Given the description of an element on the screen output the (x, y) to click on. 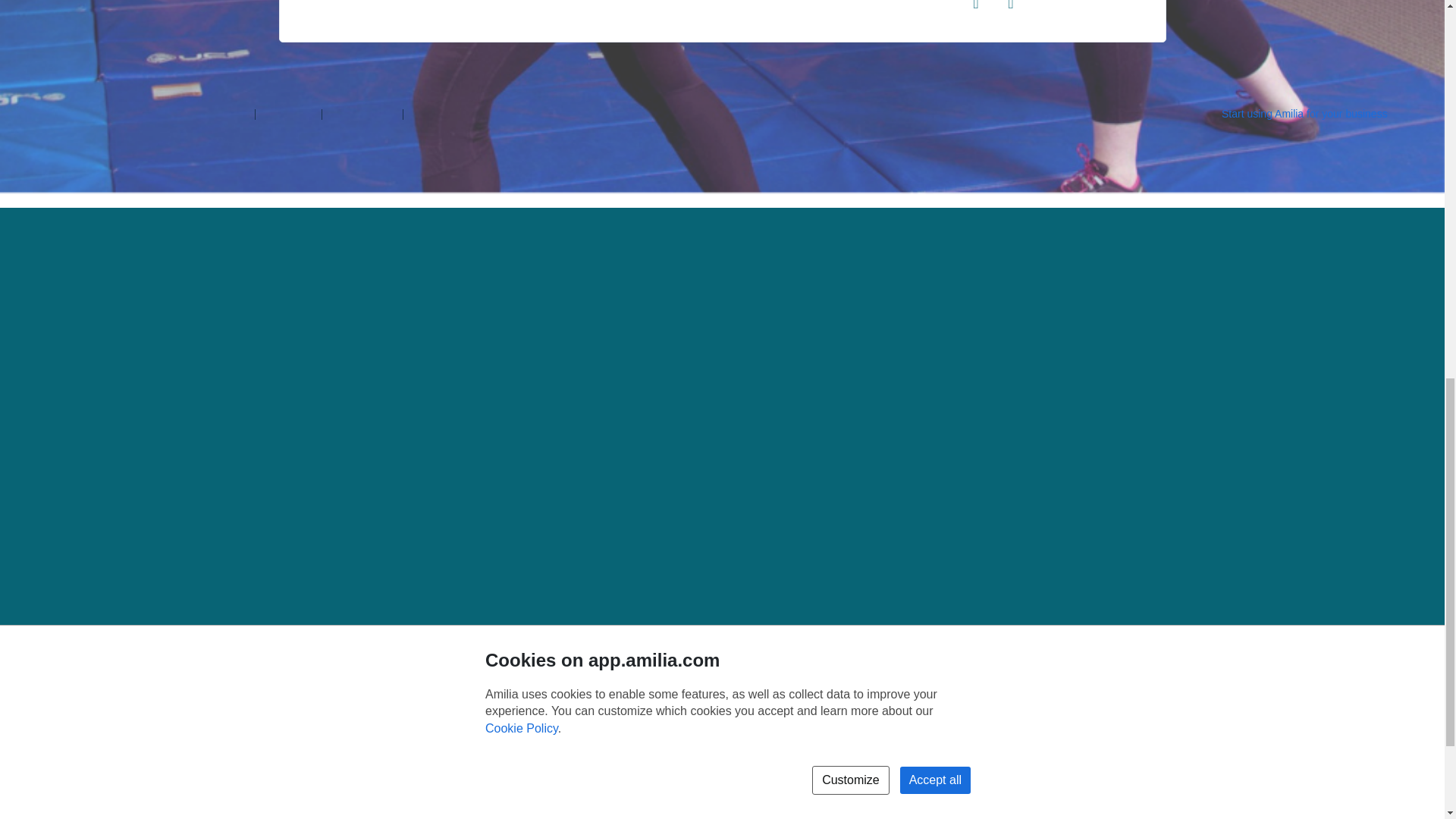
Help center (288, 112)
Legal (422, 112)
Contact Amilia (362, 112)
Start using Amilia for your business (1317, 112)
Facebook (975, 3)
Instagram (1010, 3)
